Given the description of an element on the screen output the (x, y) to click on. 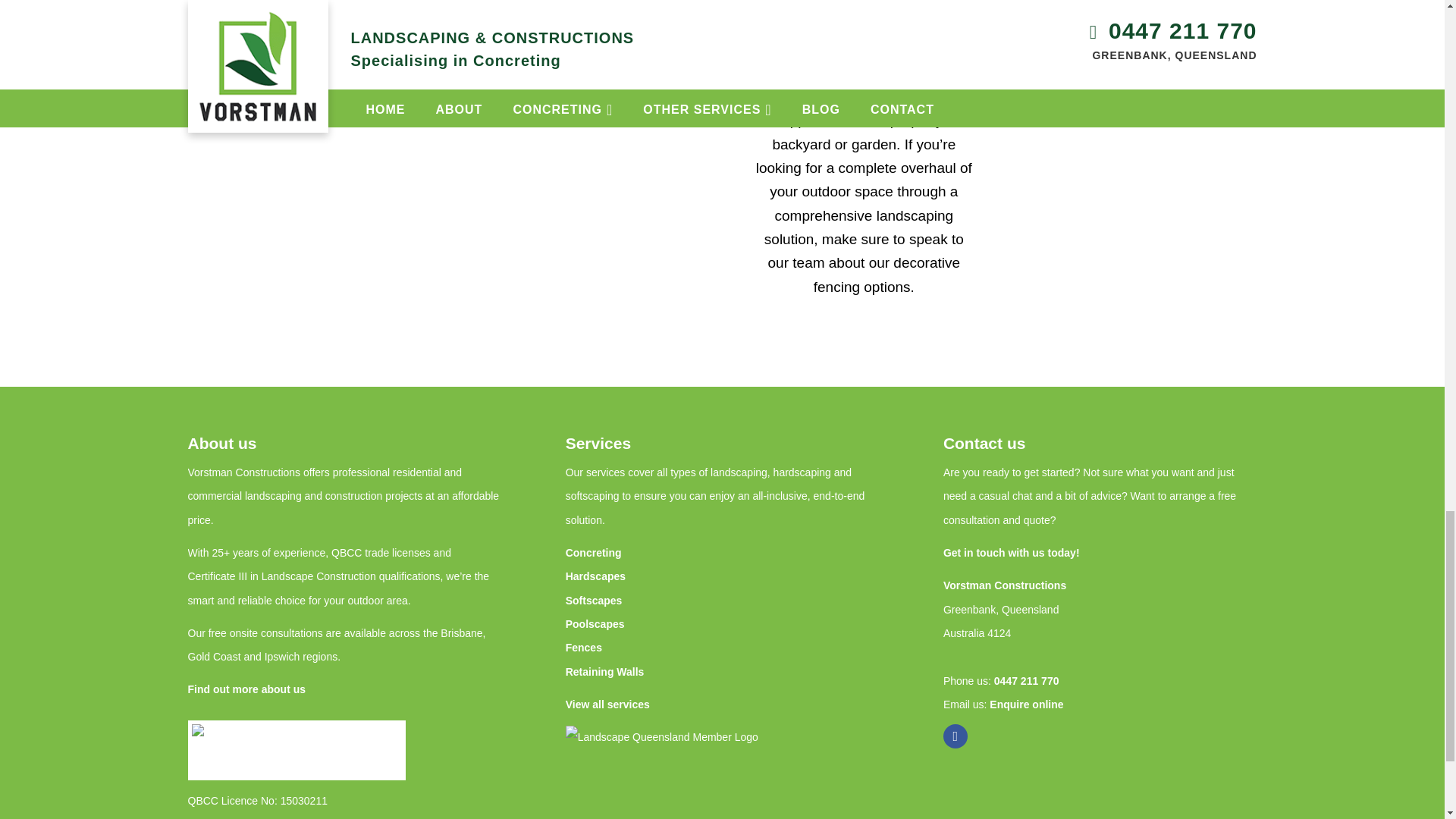
Find out more about us (246, 689)
Facebook (955, 735)
Decorative Fence (580, 166)
Landscape Queensland Member Logo (674, 772)
Hardscapes (596, 576)
Concreting (593, 552)
